Given the description of an element on the screen output the (x, y) to click on. 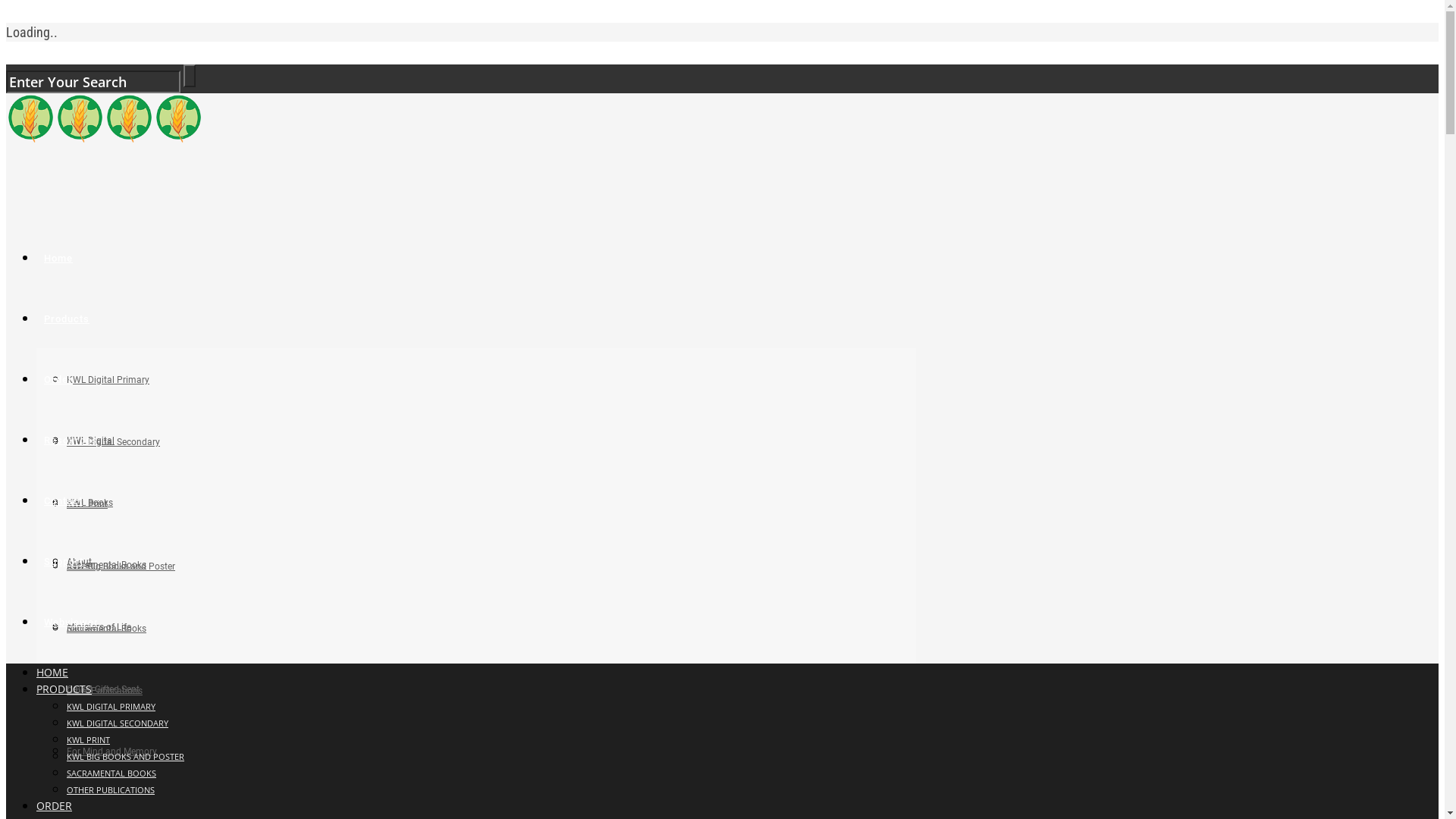
KWL Digital Element type: text (90, 440)
KWL DIGITAL SECONDARY Element type: text (117, 722)
Other Publications Element type: text (104, 690)
KWL BIG BOOKS AND POSTER Element type: text (125, 756)
KWL PRINT Element type: text (87, 739)
HOME Element type: text (52, 672)
About Element type: text (78, 561)
Sacramental Books Element type: text (106, 564)
Products Element type: text (66, 318)
PRODUCTS Element type: text (63, 688)
SACRAMENTAL BOOKS Element type: text (111, 772)
Sacramental Books Element type: text (106, 628)
For Mind and Memory Element type: text (111, 751)
KWL Books Element type: text (89, 502)
OTHER PUBLICATIONS Element type: text (110, 789)
Order Element type: text (58, 379)
KWL Digital Secondary Element type: text (113, 441)
Webviewer Element type: text (71, 622)
KWL Print Element type: text (86, 503)
KWL Big Books and Poster Element type: text (120, 566)
Contact Element type: text (63, 500)
Resources Element type: text (70, 440)
ORDER Element type: text (54, 805)
Support Element type: text (63, 561)
KWL Digital Primary Element type: text (107, 379)
Home Element type: text (58, 258)
Ministers of Life Element type: text (98, 626)
Called Gifted Sent Element type: text (102, 689)
KWL DIGITAL PRIMARY Element type: text (110, 706)
